Given the description of an element on the screen output the (x, y) to click on. 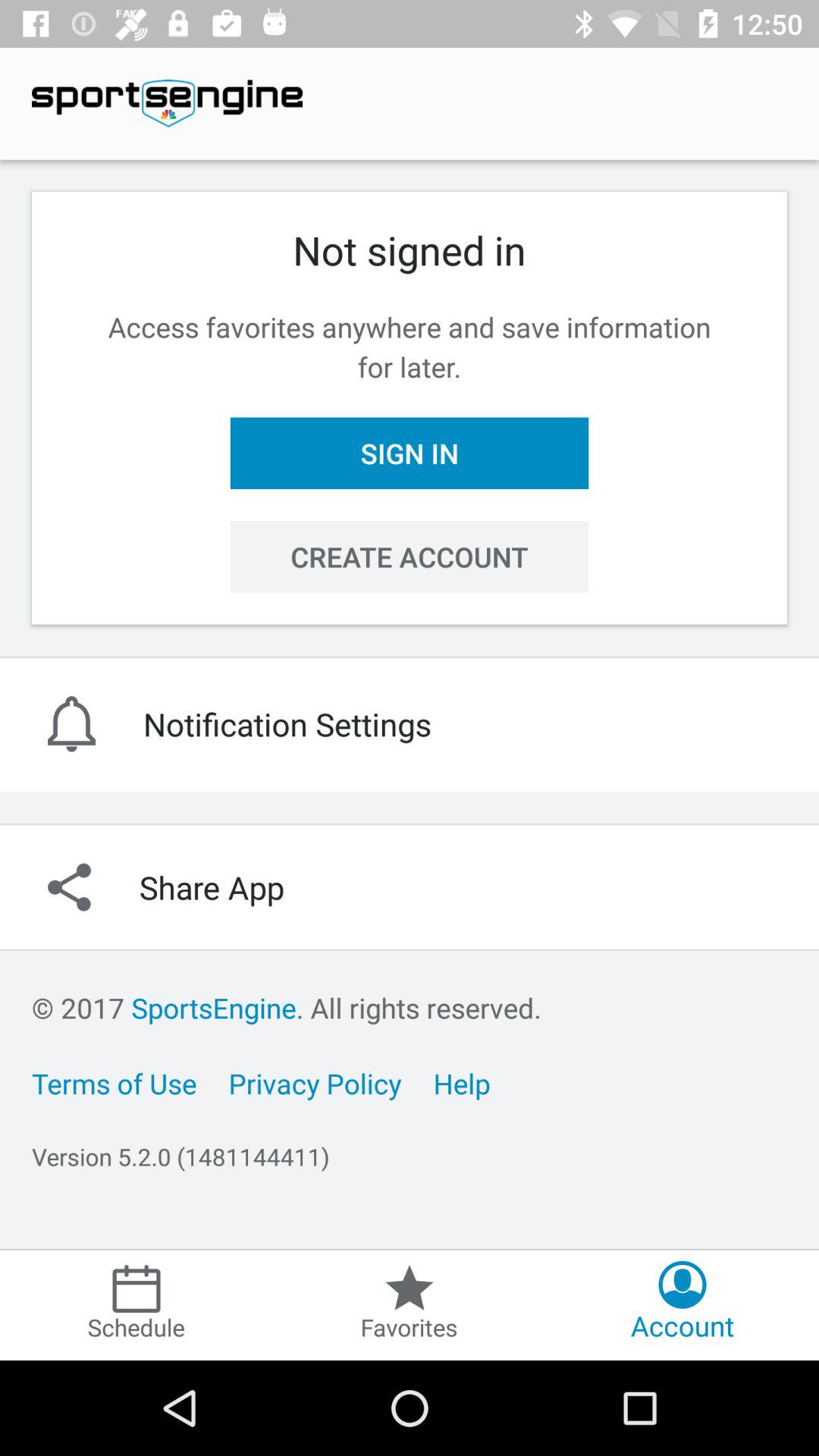
turn on the share app item (409, 886)
